Given the description of an element on the screen output the (x, y) to click on. 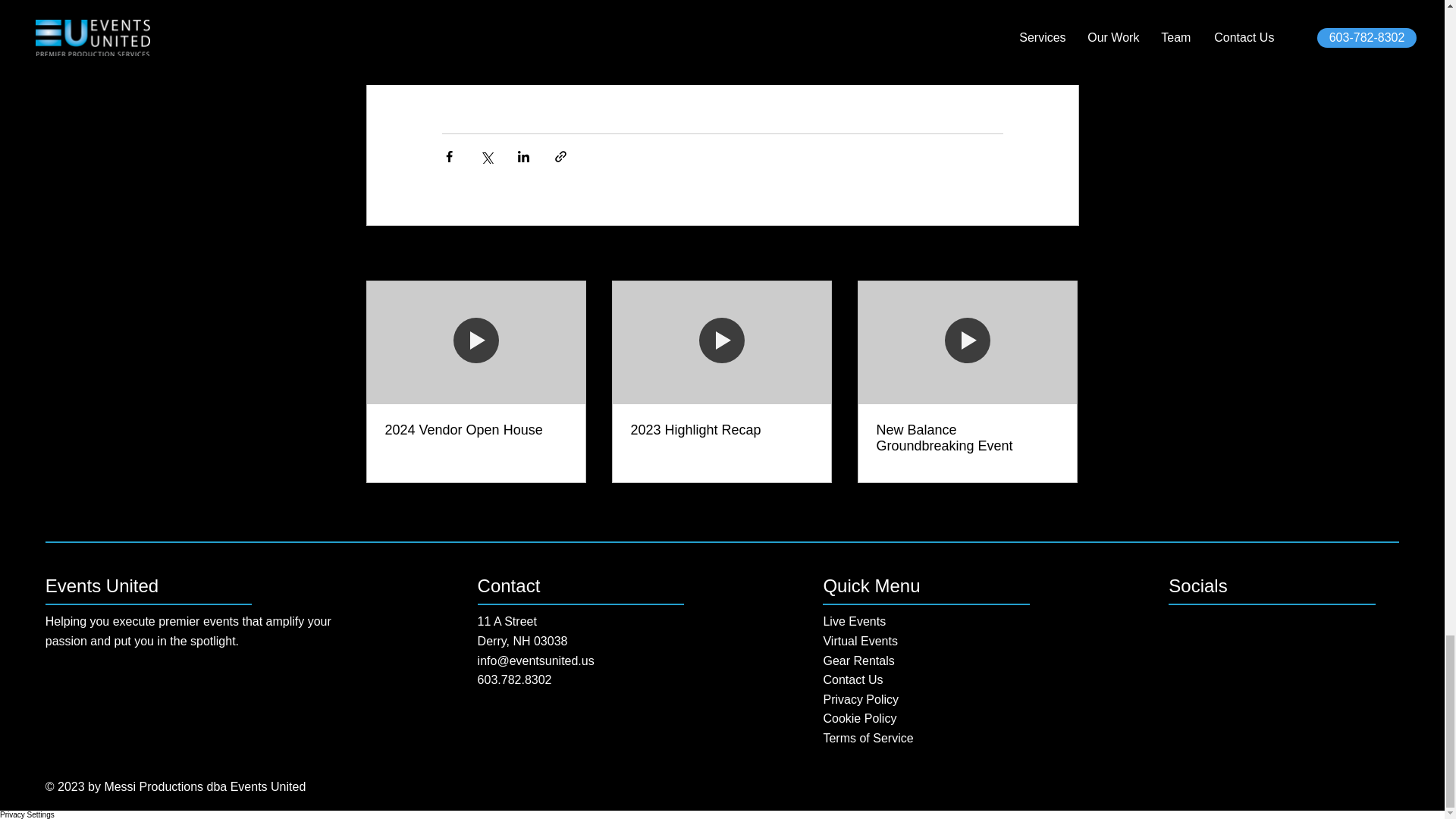
New Balance Groundbreaking Event (967, 438)
Virtual Events (859, 640)
2024 Vendor Open House (476, 430)
www.plsn.com (580, 43)
Contact Us (852, 679)
See All (1061, 254)
Events United (101, 585)
Gear Rentals (857, 660)
Live Events (853, 621)
2023 Highlight Recap (721, 430)
Privacy Policy (860, 698)
